Given the description of an element on the screen output the (x, y) to click on. 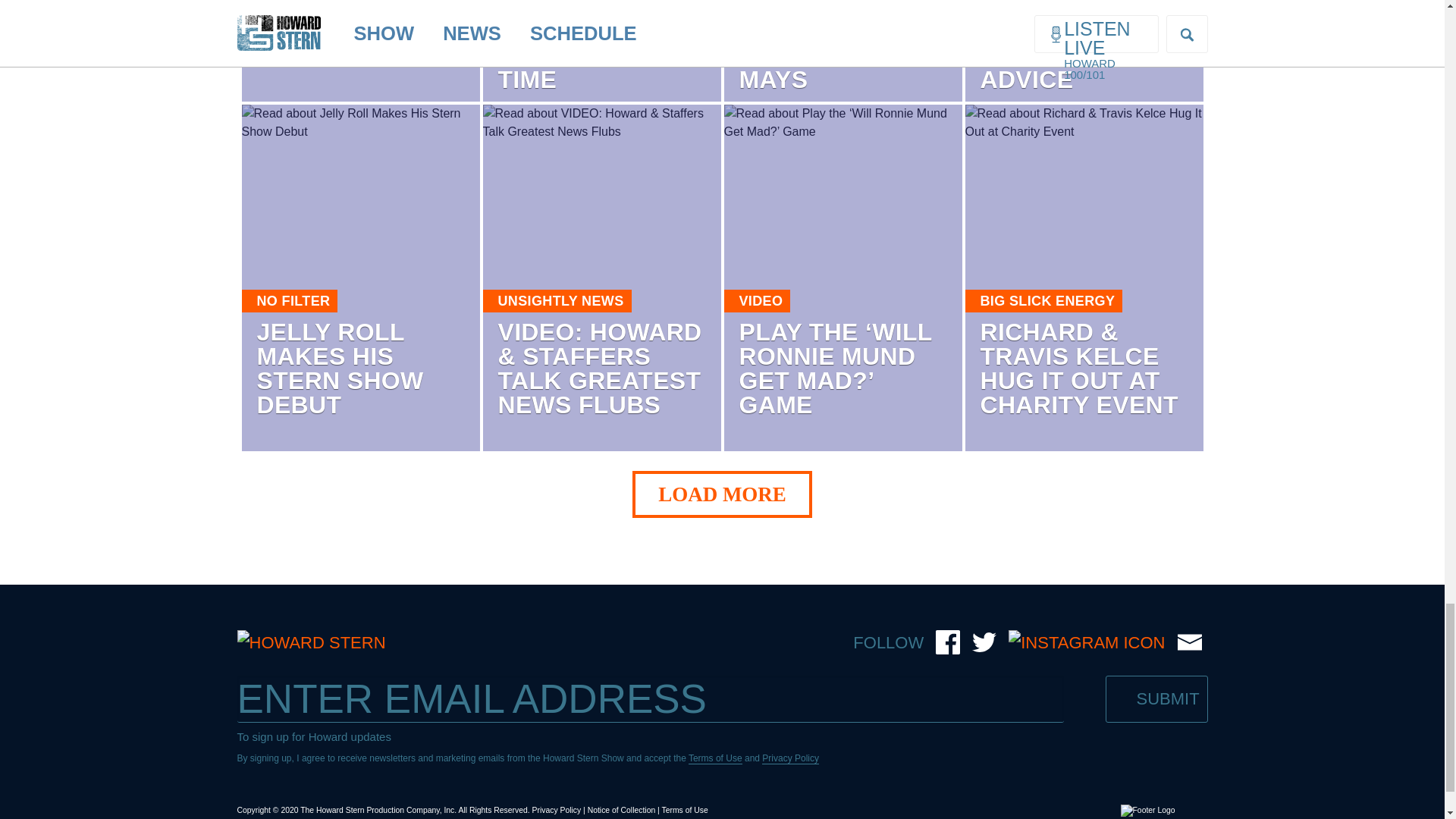
WATCH JD STRUGGLE WITH FRENCH LESSONS (359, 34)
